Given the description of an element on the screen output the (x, y) to click on. 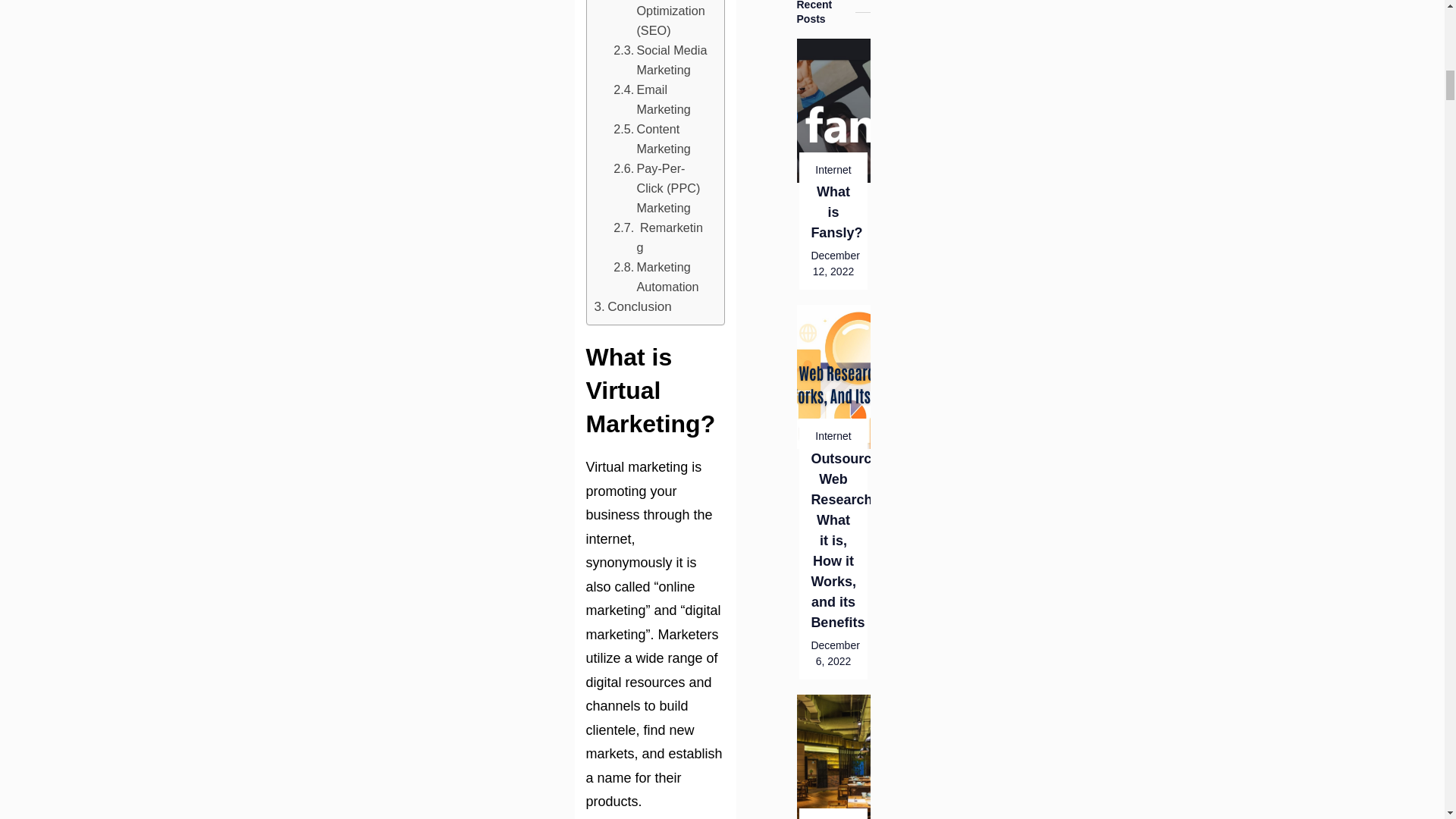
Marketing Automation (659, 276)
Conclusion (632, 306)
Content Marketing (659, 138)
Social Media Marketing (659, 59)
Email Marketing (659, 98)
